Given the description of an element on the screen output the (x, y) to click on. 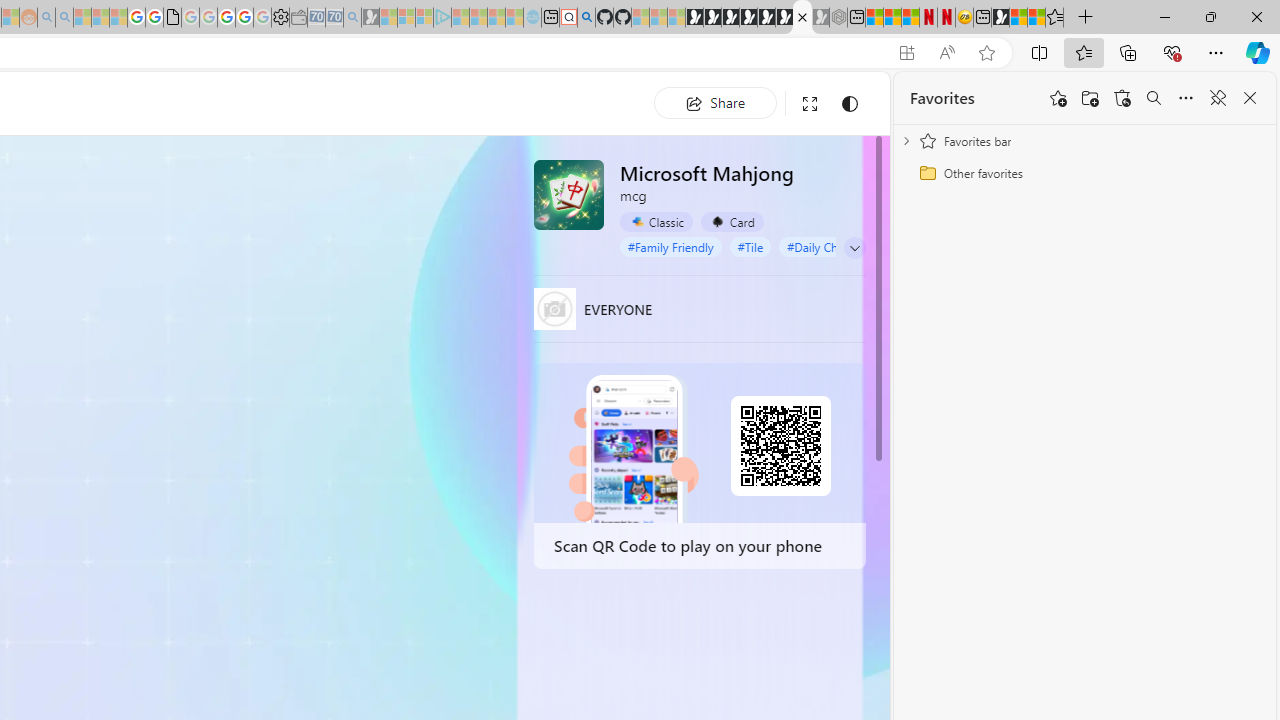
Search favorites (1153, 98)
EVERYONE (554, 308)
github - Search (586, 17)
Card (732, 221)
Add this page to favorites (1058, 98)
